Given the description of an element on the screen output the (x, y) to click on. 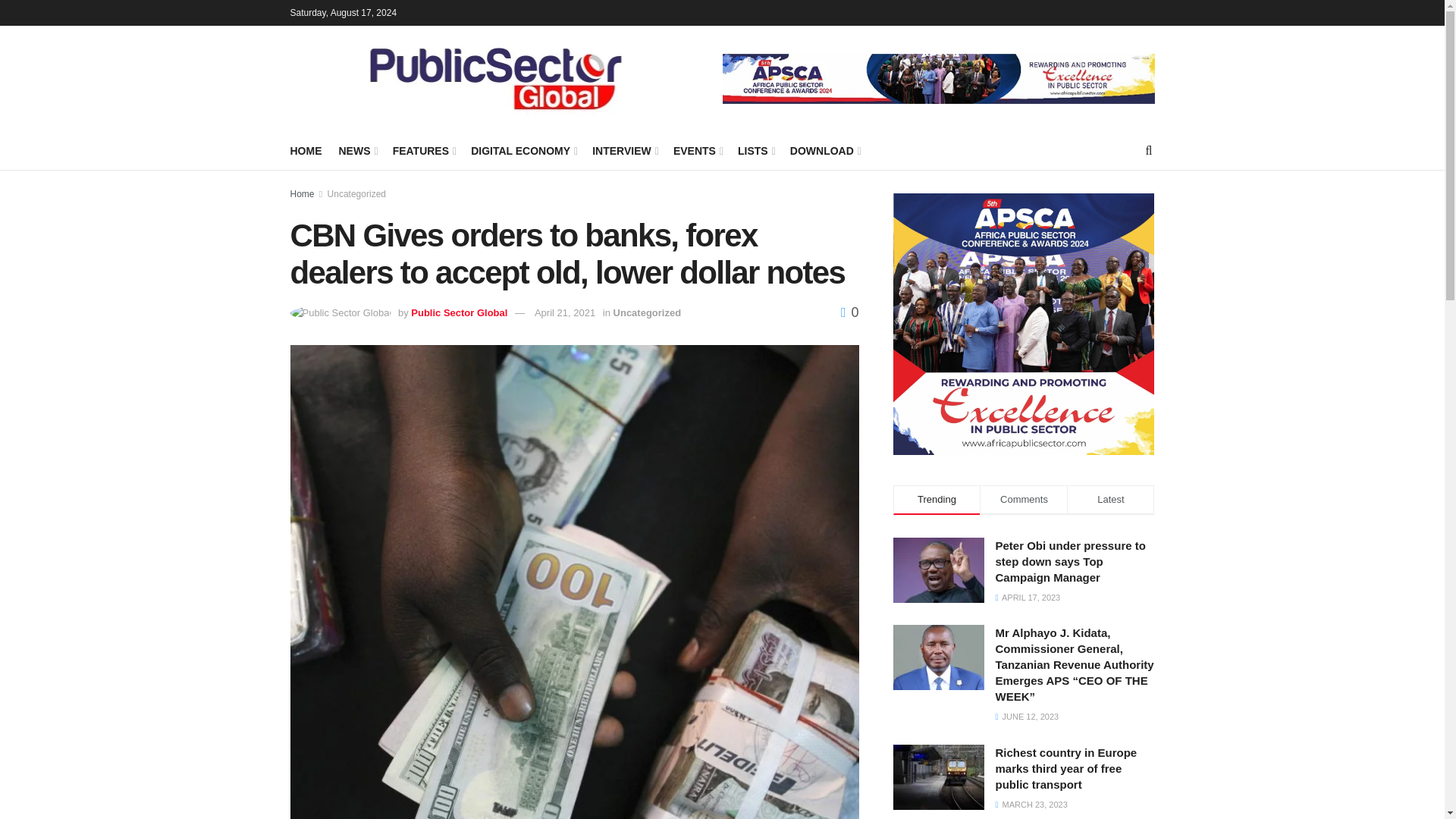
HOME (305, 150)
FEATURES (423, 150)
NEWS (356, 150)
DIGITAL ECONOMY (522, 150)
